Given the description of an element on the screen output the (x, y) to click on. 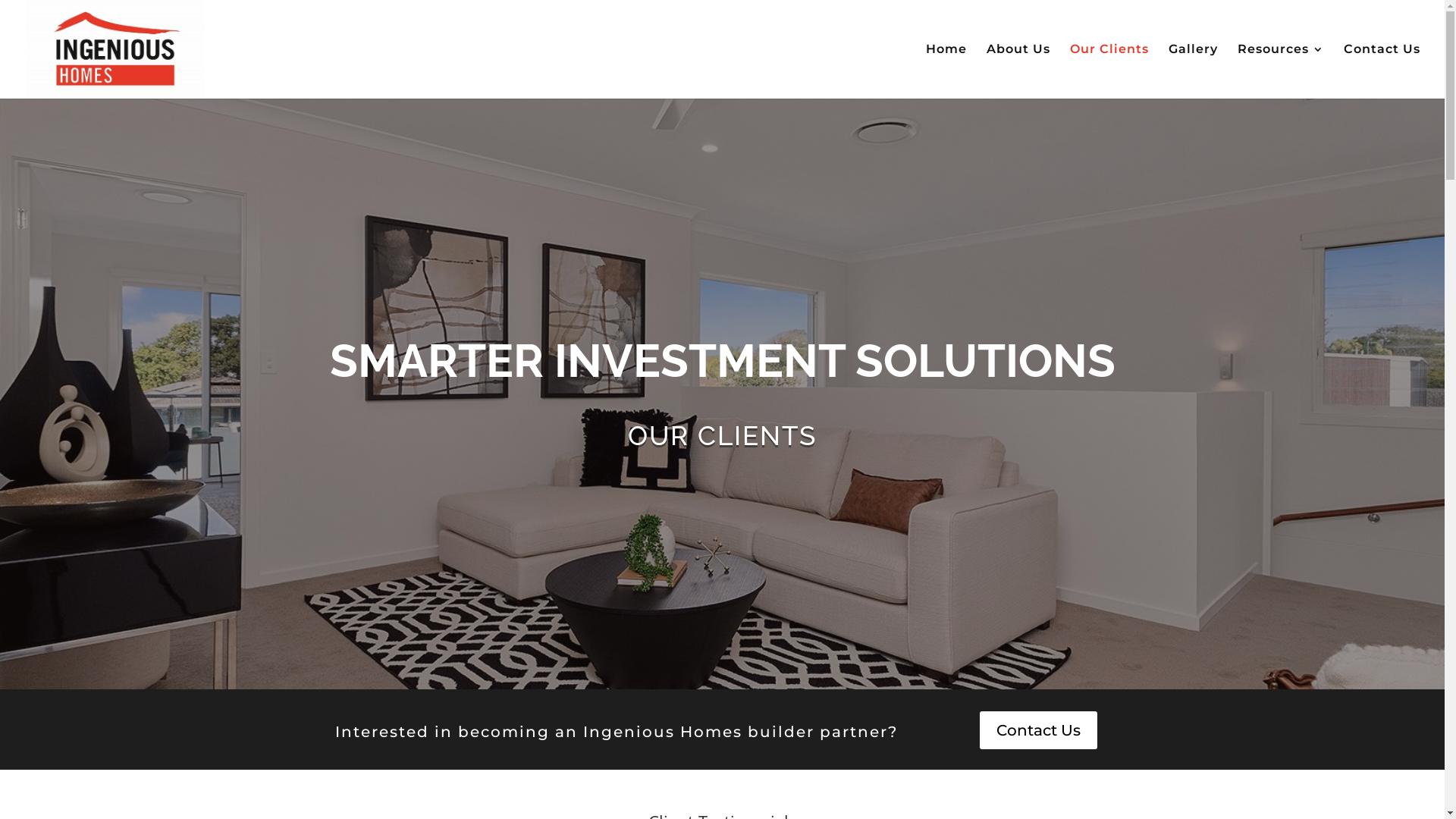
About Us Element type: text (1018, 70)
Contact Us Element type: text (1381, 70)
Gallery Element type: text (1192, 70)
Resources Element type: text (1280, 70)
Home Element type: text (945, 70)
Our Clients Element type: text (1109, 70)
Contact Us Element type: text (1038, 730)
